Given the description of an element on the screen output the (x, y) to click on. 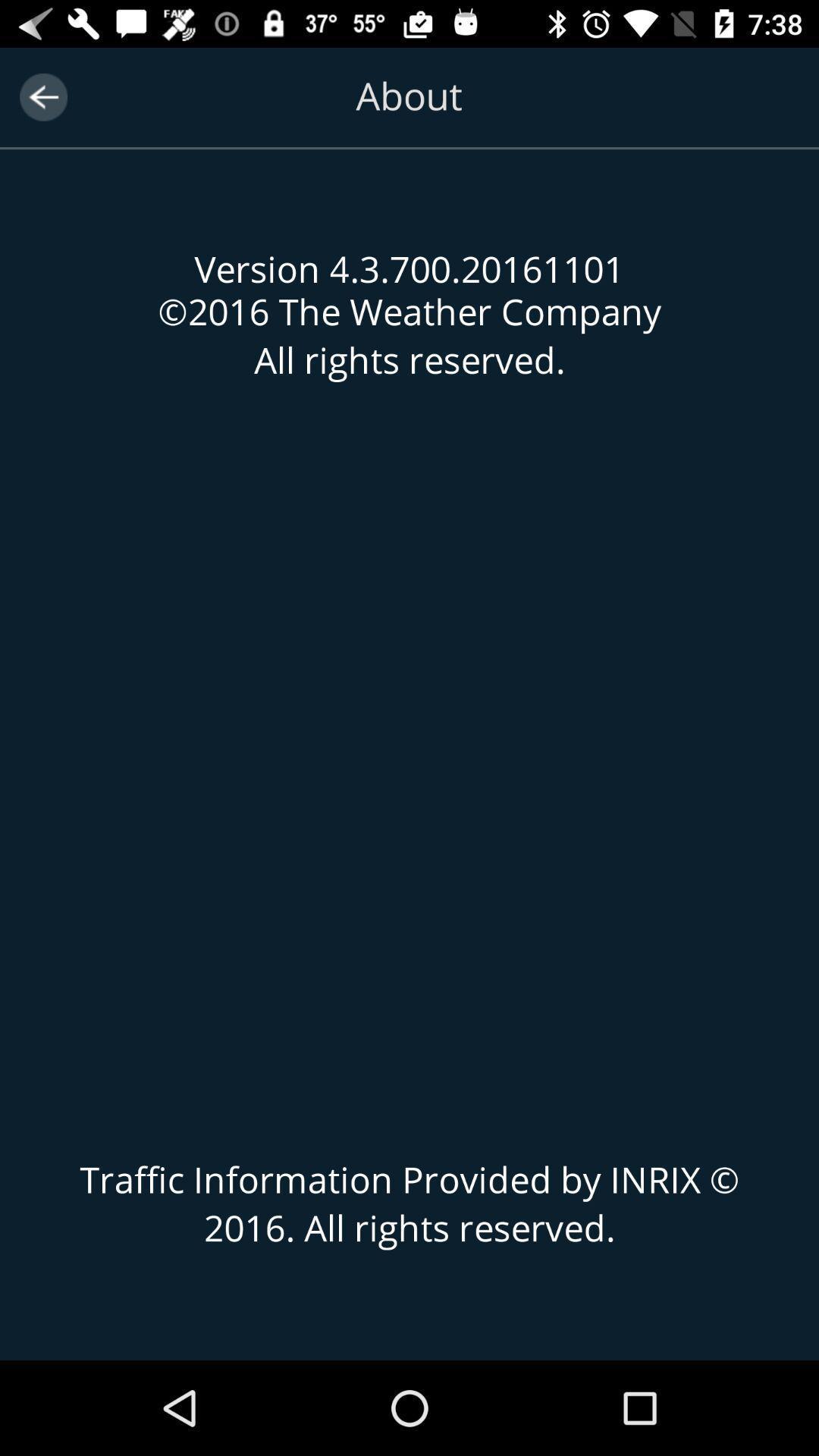
click on the button beside about (43, 97)
